Given the description of an element on the screen output the (x, y) to click on. 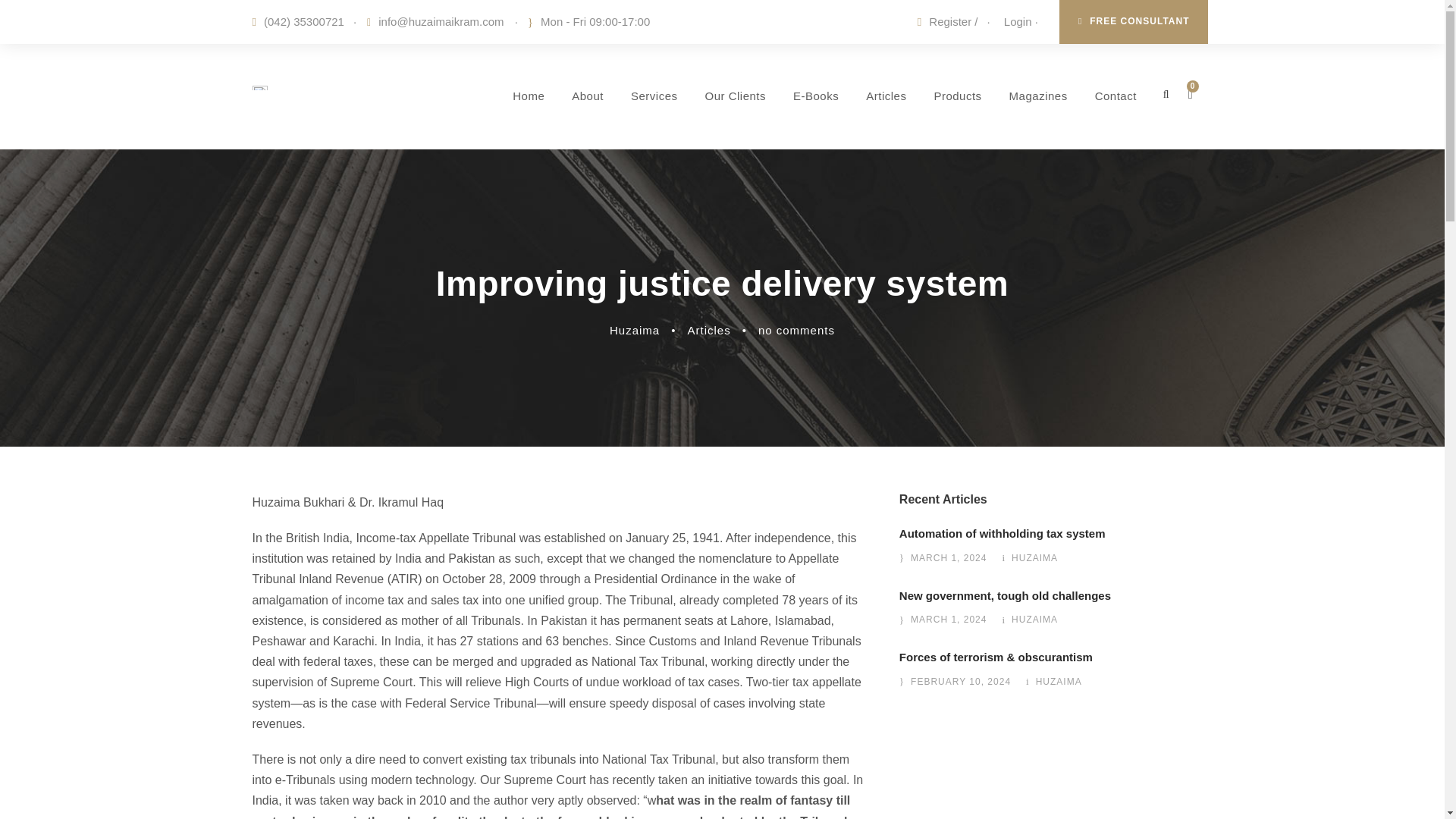
Our Clients (734, 117)
Posts by Huzaima (1034, 619)
Posts by Huzaima (634, 329)
Posts by Huzaima (1058, 681)
Posts by Huzaima (1034, 557)
no comments (796, 329)
Magazines (1038, 117)
Huzaima (634, 329)
FREE CONSULTANT (1133, 22)
Articles (708, 329)
